Given the description of an element on the screen output the (x, y) to click on. 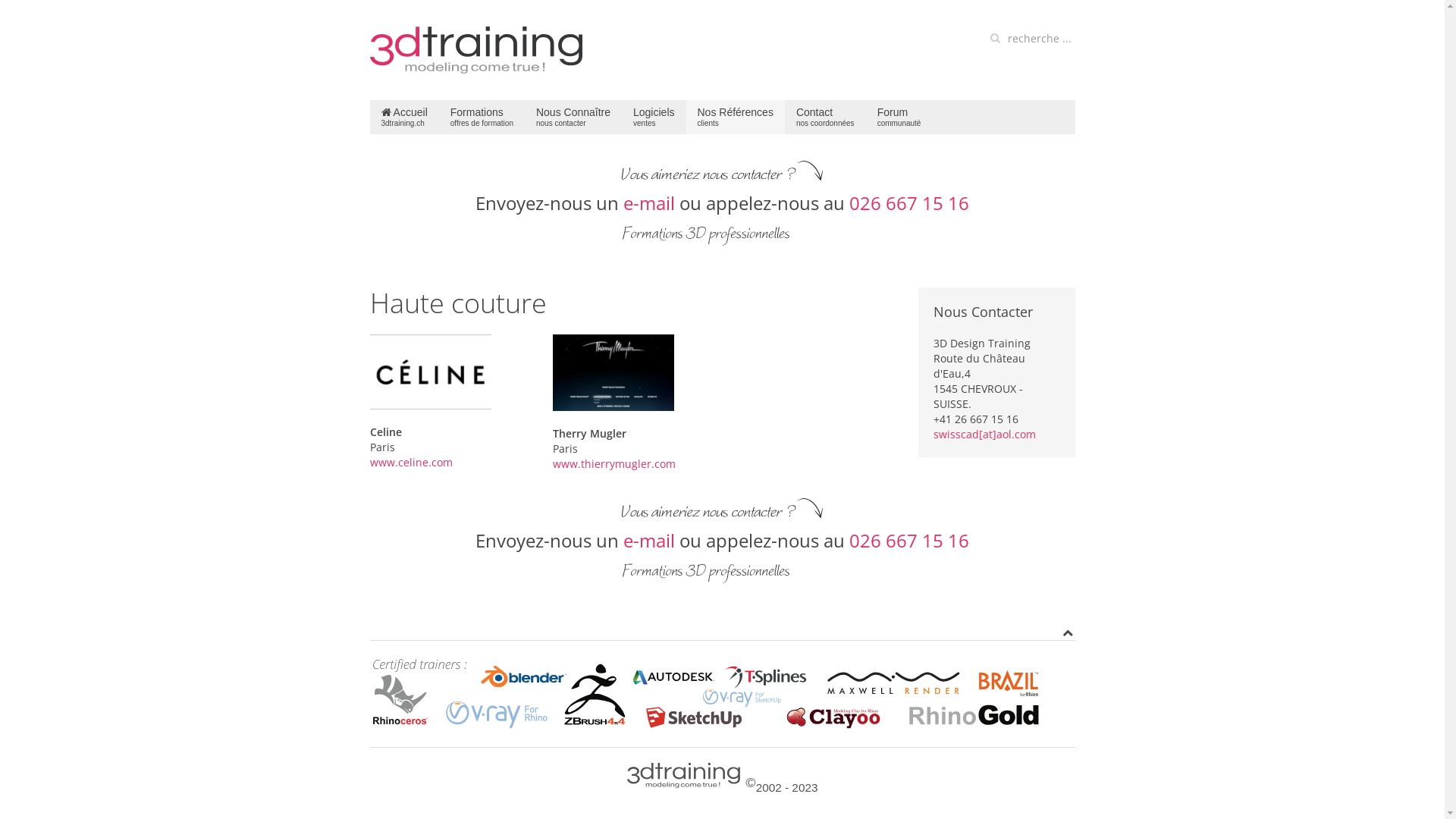
Authorized Training Center Element type: hover (721, 693)
www.thierrymugler.com Element type: text (613, 463)
www.celine.com Element type: text (411, 462)
026 667 15 16 Element type: text (909, 540)
Therry Mugler Element type: hover (613, 371)
Logiciels
ventes Element type: text (653, 117)
Accueil
3dtraining.ch Element type: text (404, 117)
e-mail Element type: text (648, 540)
Celine Mode et tendances Element type: hover (430, 370)
e-mail Element type: text (648, 203)
Celine Mode et tendances Element type: hover (430, 371)
026 667 15 16 Element type: text (909, 203)
formation Rhinoceros Element type: hover (476, 49)
Formations
offres de formation Element type: text (481, 117)
swisscad[at]aol.com Element type: text (984, 433)
Therry Mugler Element type: hover (613, 372)
